Given the description of an element on the screen output the (x, y) to click on. 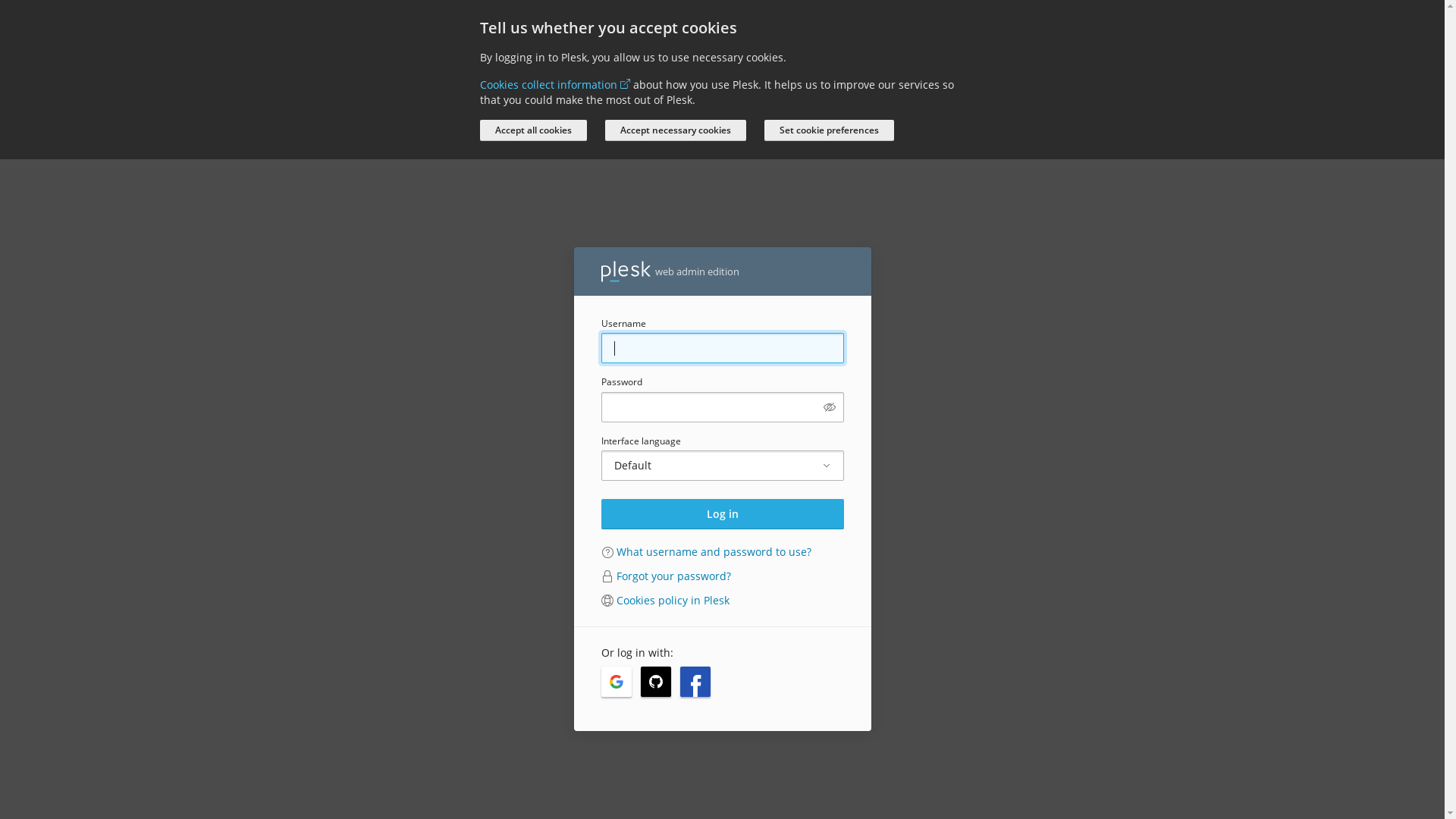
Forgot your password? Element type: text (672, 575)
What username and password to use? Element type: text (712, 551)
Set cookie preferences Element type: text (829, 130)
Cookies policy in Plesk Element type: text (671, 600)
web admin edition Element type: text (669, 271)
GitHub Element type: hover (655, 681)
Log in Element type: text (721, 513)
Accept all cookies Element type: text (532, 130)
Accept necessary cookies Element type: text (675, 130)
Cookies collect information Element type: text (554, 84)
Facebook Element type: hover (694, 681)
Google Element type: hover (615, 681)
